Given the description of an element on the screen output the (x, y) to click on. 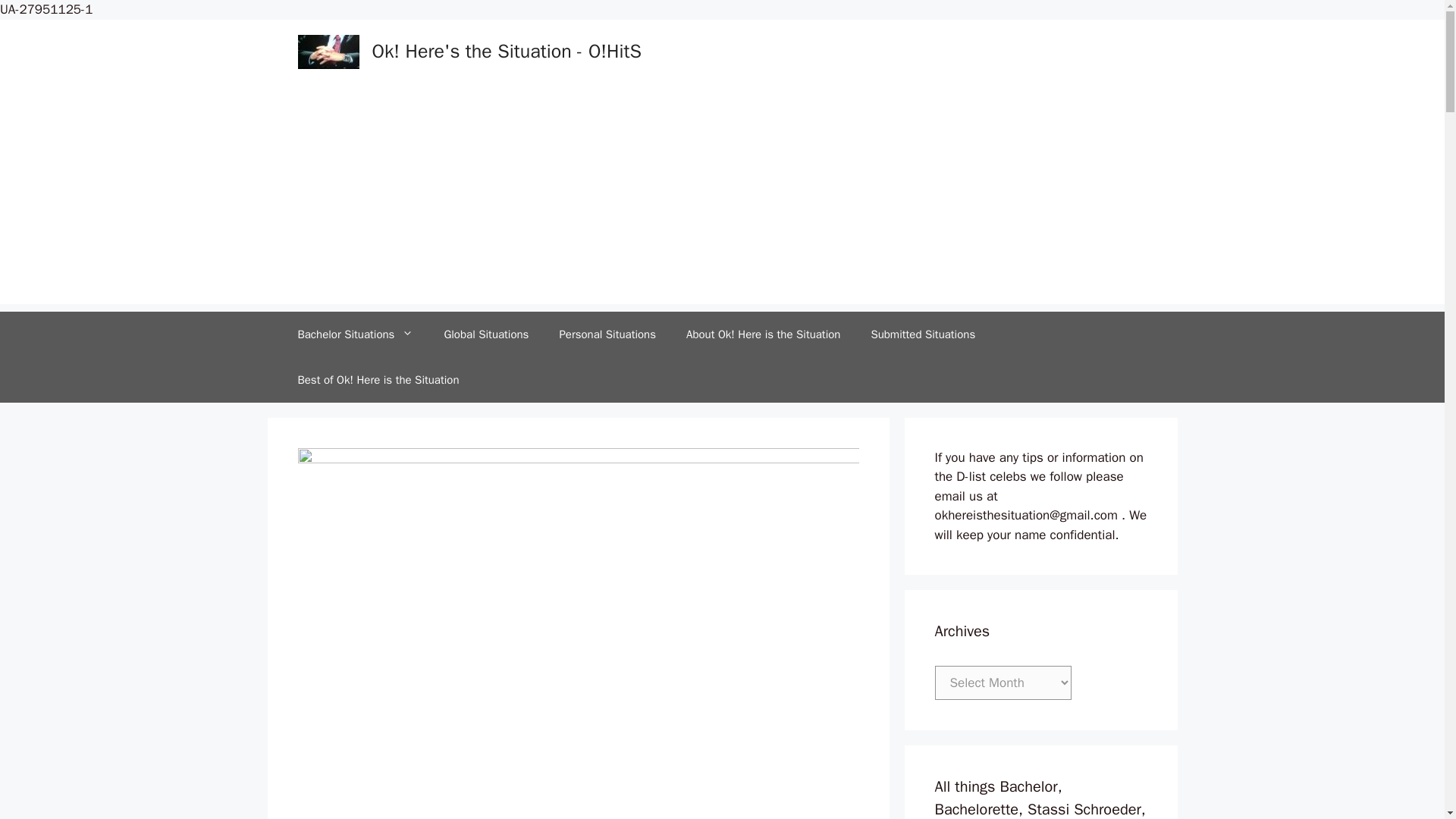
Bachelor Situations (355, 333)
Best of Ok! Here is the Situation (378, 379)
About Ok! Here is the Situation (763, 333)
Personal Situations (607, 333)
Global Situations (485, 333)
Bachelor News (355, 333)
Ok! Here's the Situation - O!HitS (506, 51)
Submitted Situations (923, 333)
